Given the description of an element on the screen output the (x, y) to click on. 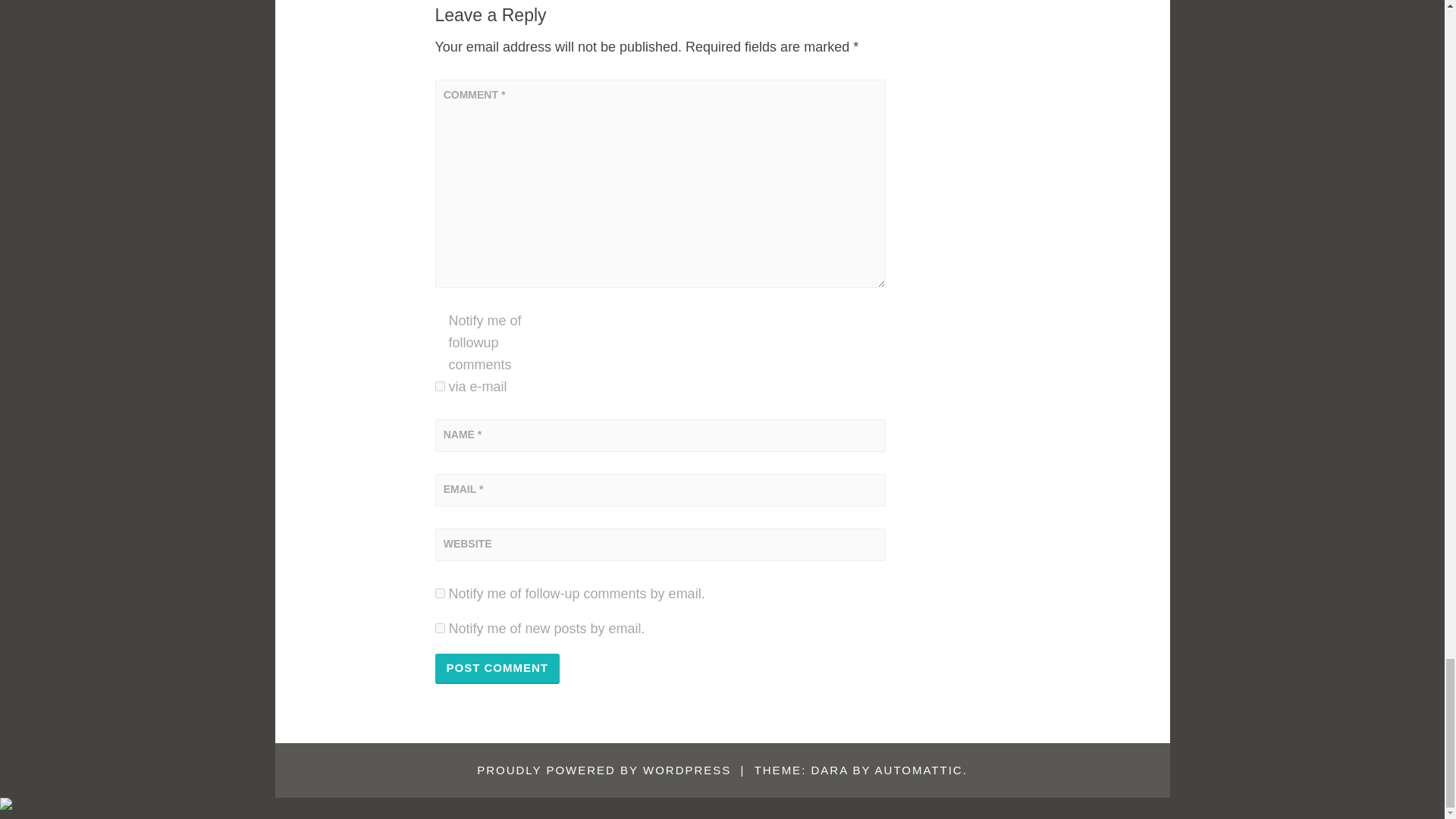
Post Comment (497, 668)
subscribe (440, 386)
Post Comment (497, 668)
subscribe (440, 628)
subscribe (440, 593)
